Given the description of an element on the screen output the (x, y) to click on. 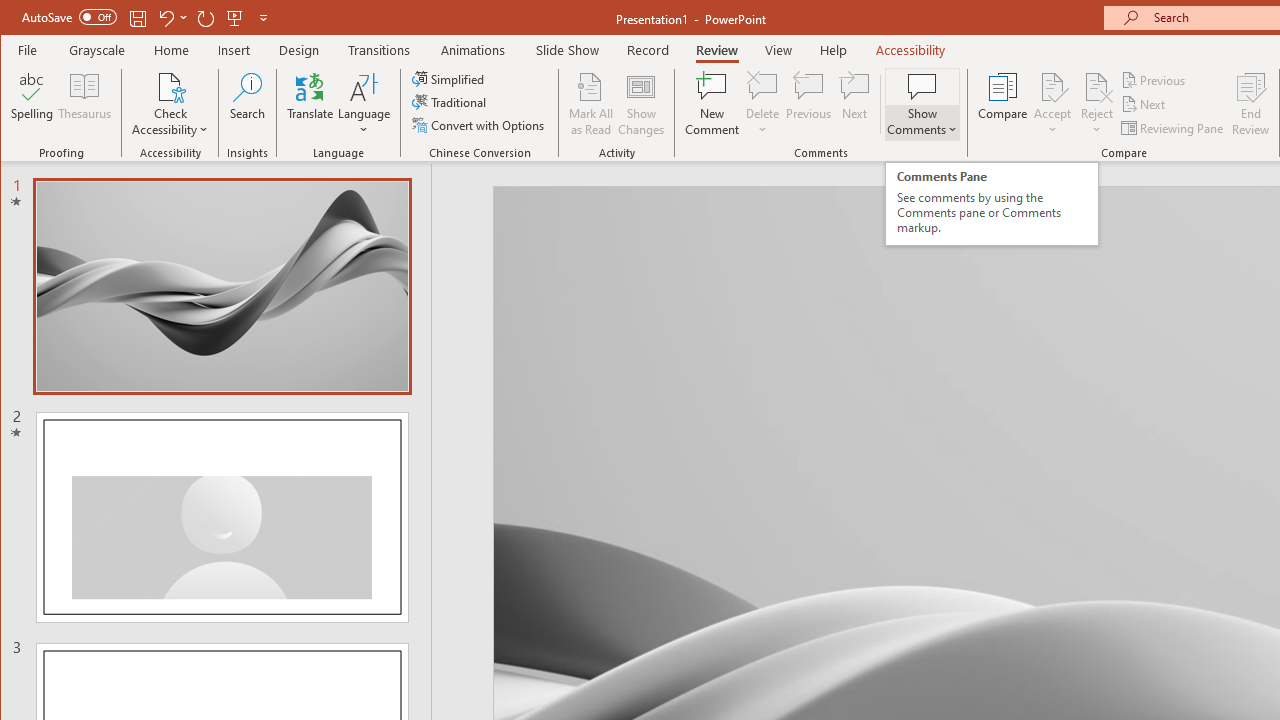
Delete (762, 104)
Check Accessibility (170, 86)
Thesaurus... (84, 104)
Search (247, 104)
Convert with Options... (479, 124)
Accept (1052, 104)
Check Accessibility (170, 104)
Spelling... (32, 104)
Next (1144, 103)
